Given the description of an element on the screen output the (x, y) to click on. 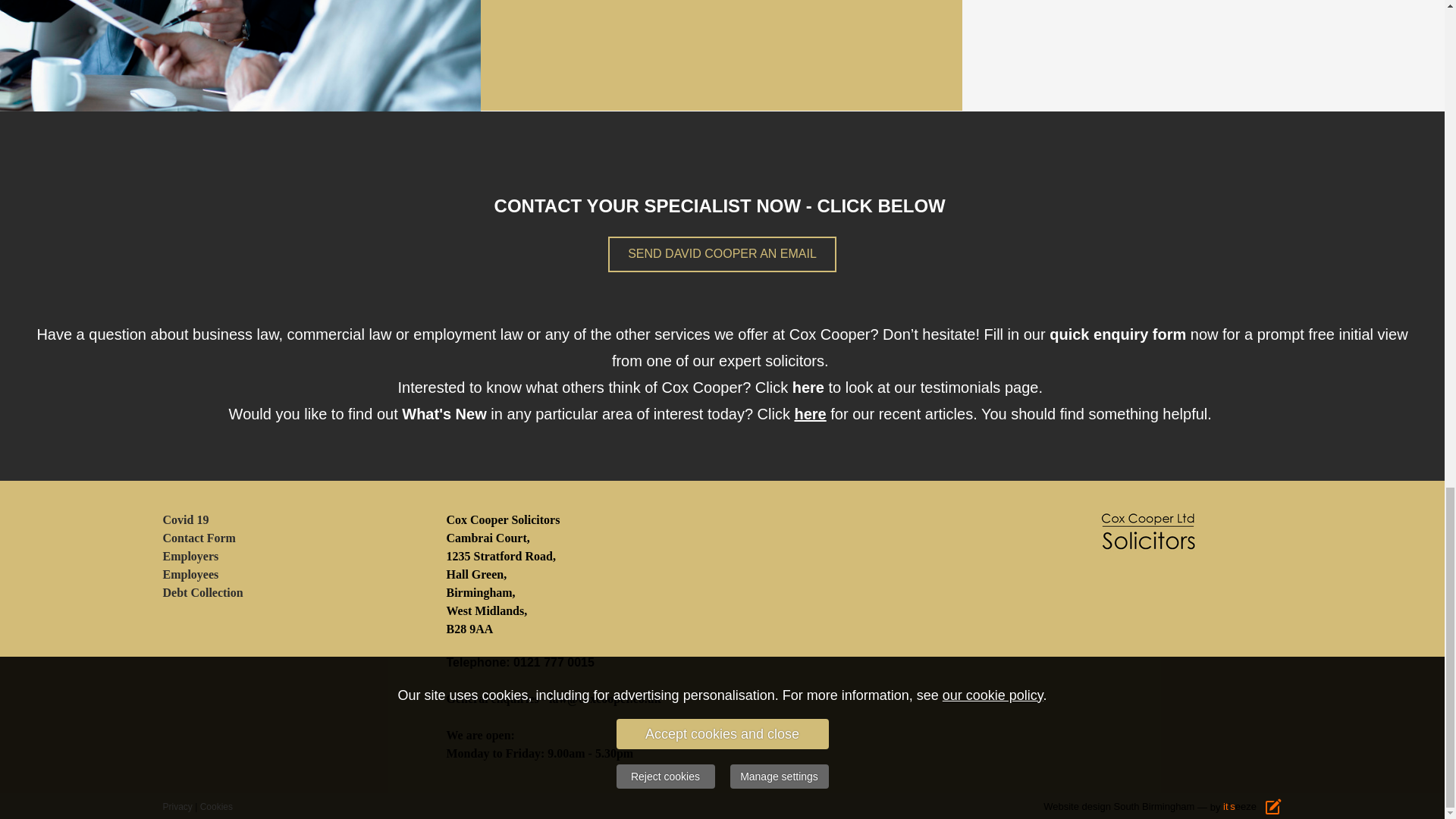
Privacy (176, 805)
Debt Collection (202, 592)
Contact Form (197, 537)
Covid 19 (184, 519)
Cookies (216, 805)
Employees (189, 574)
here (808, 388)
Employers (189, 555)
quick enquiry form (1117, 335)
Website design South Birmingham (1118, 806)
SEND DAVID COOPER AN EMAIL (721, 253)
here (809, 414)
